Given the description of an element on the screen output the (x, y) to click on. 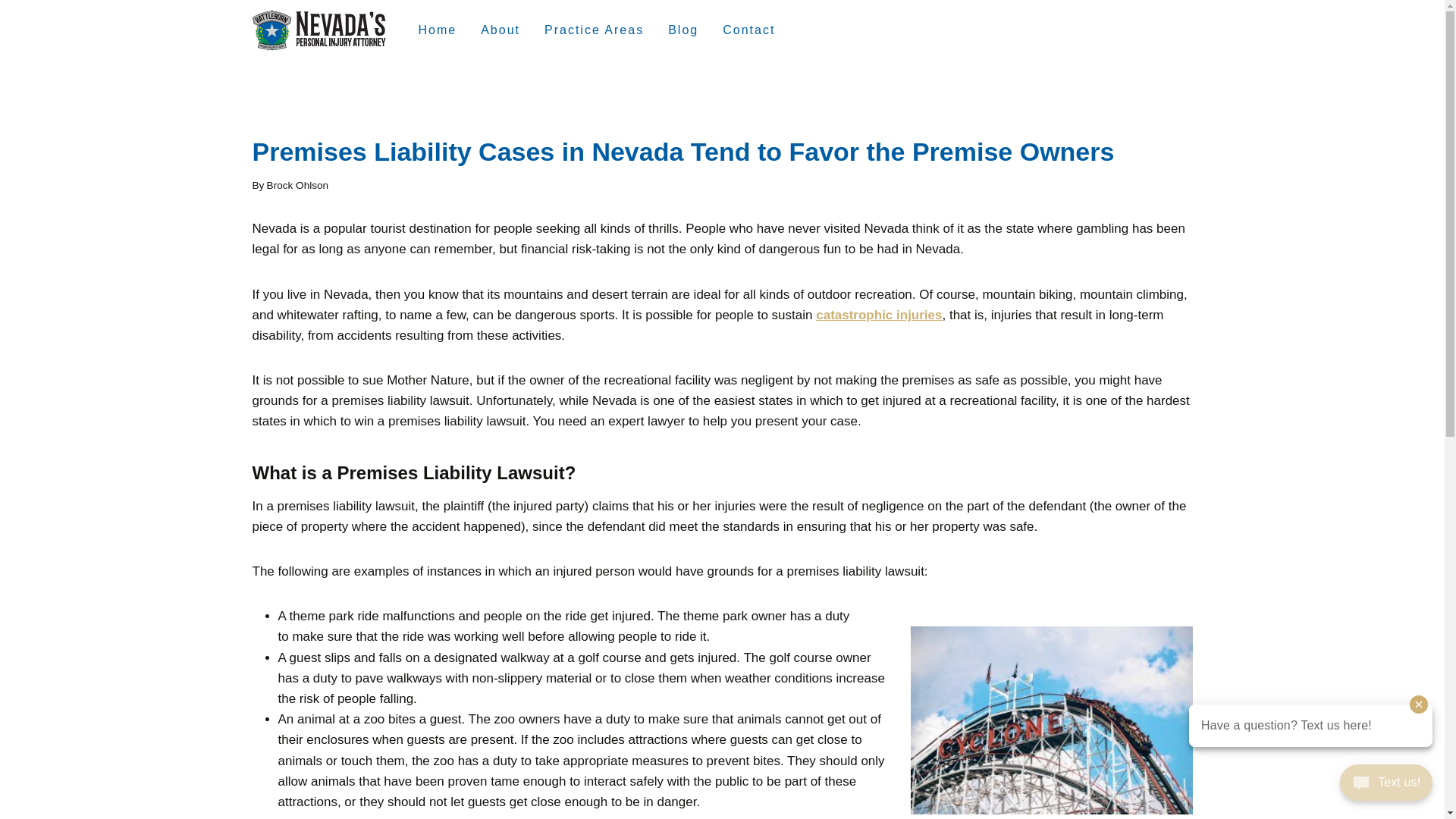
Brock Ohlson (297, 184)
About (500, 30)
catastrophic injuries (878, 314)
Contact (748, 30)
Blog (683, 30)
Practice Areas (594, 30)
Home (437, 30)
